Given the description of an element on the screen output the (x, y) to click on. 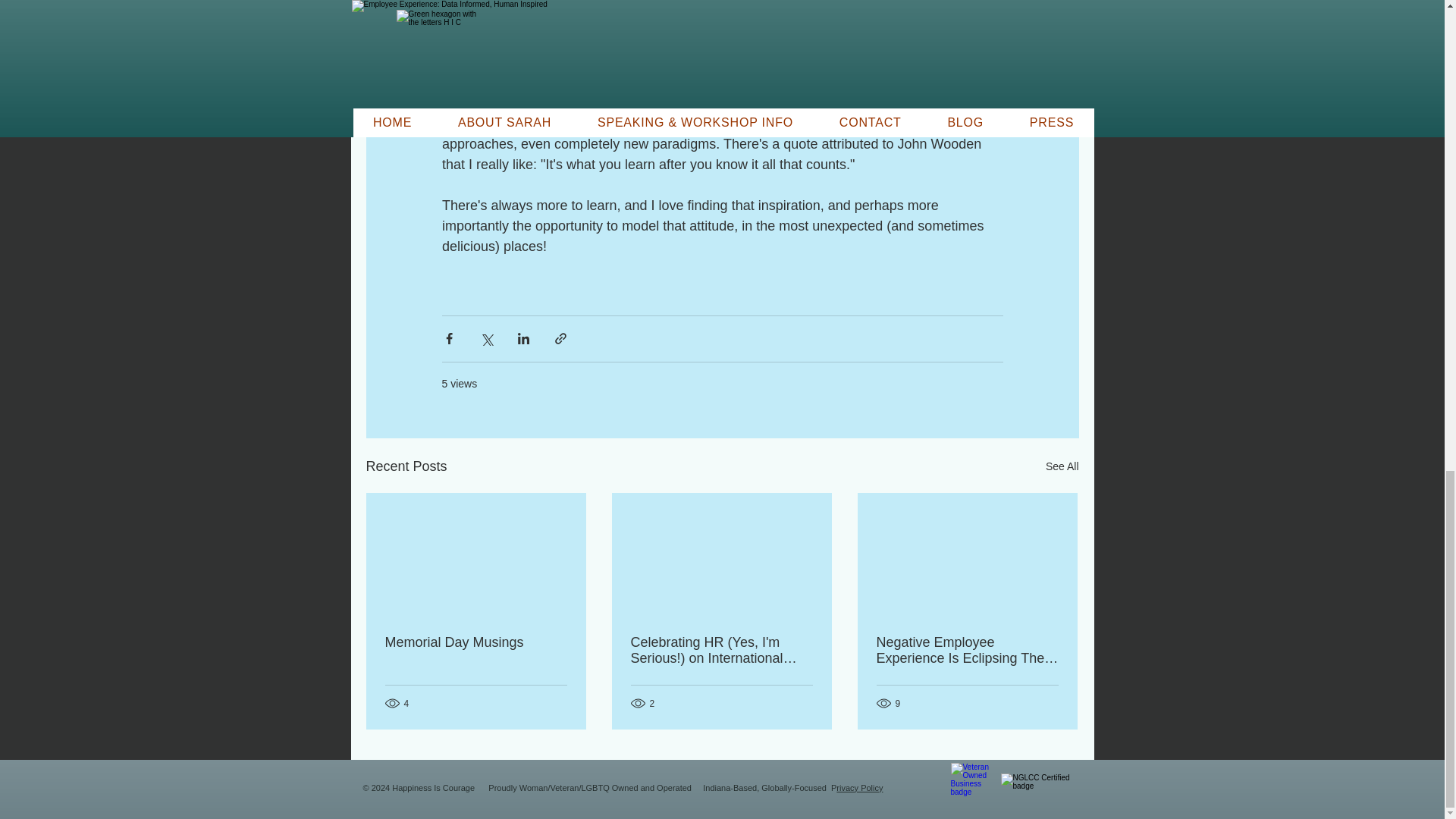
rivacy Policy (858, 787)
Memorial Day Musings (476, 642)
See All (1061, 466)
